Given the description of an element on the screen output the (x, y) to click on. 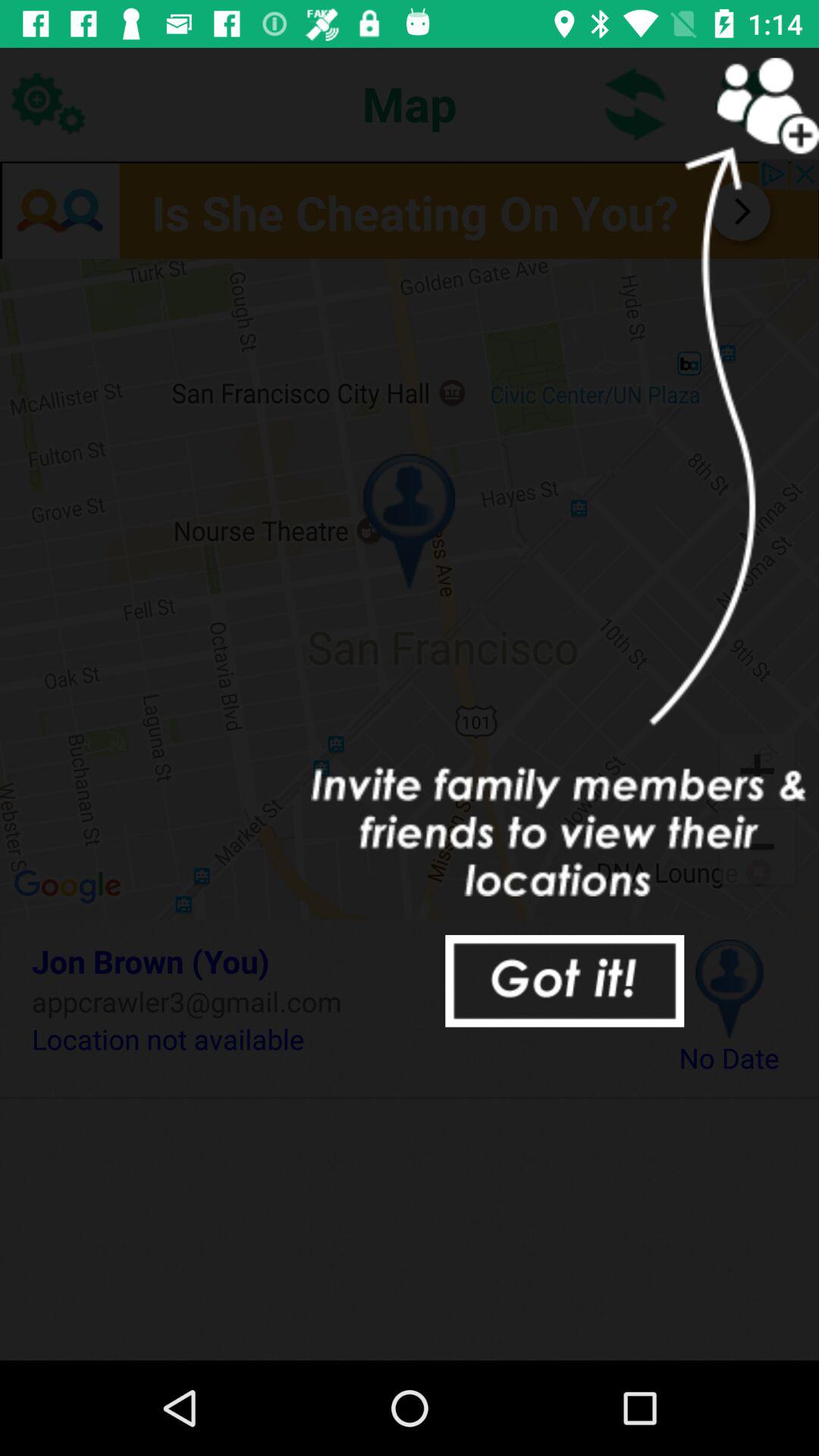
clear information (564, 980)
